Given the description of an element on the screen output the (x, y) to click on. 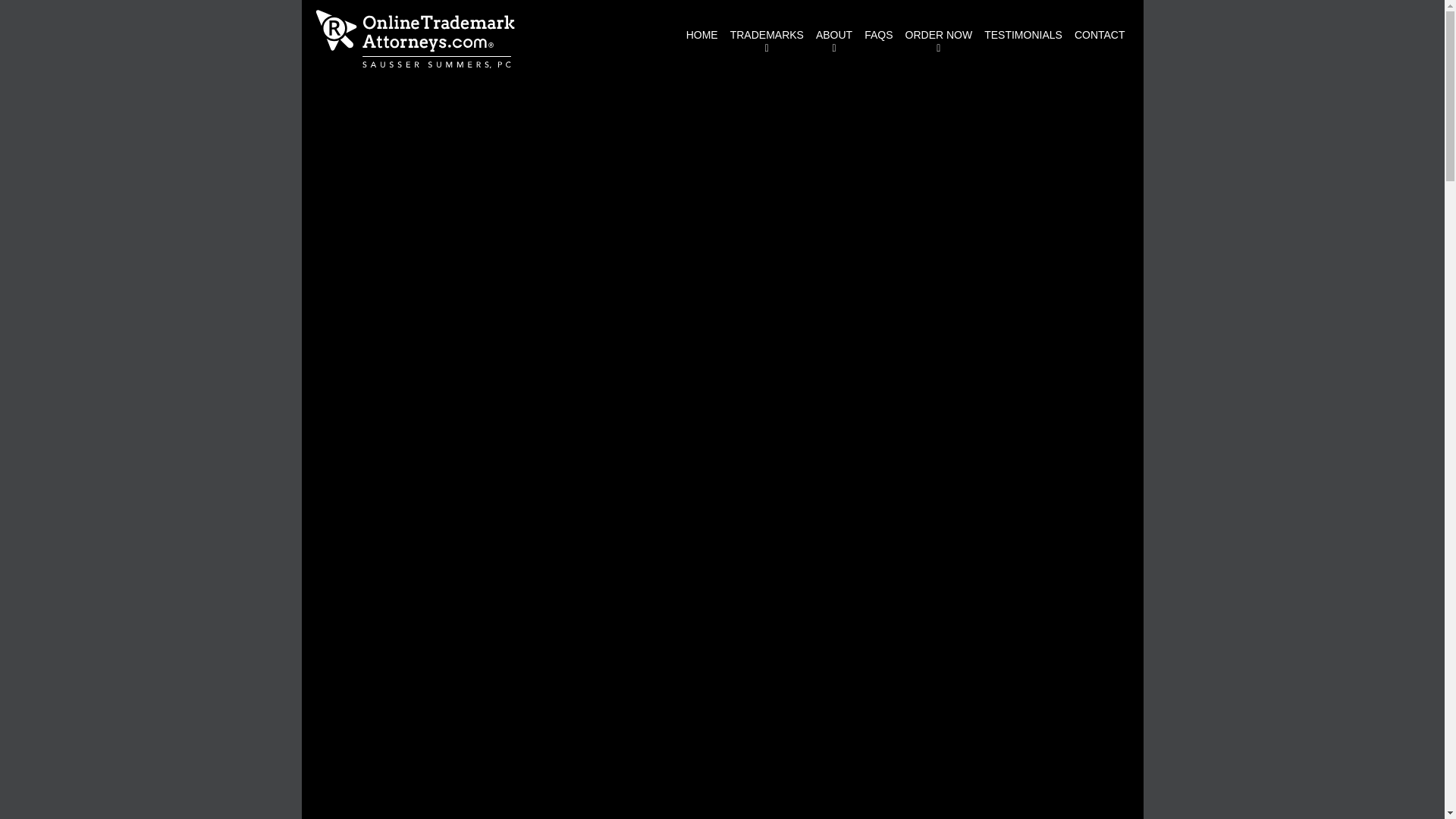
Trademarks (766, 40)
HOME (701, 35)
Testimonials (1023, 35)
FAQs (878, 35)
Contact (1099, 35)
About (834, 40)
TRADEMARKS (766, 40)
Home (701, 35)
Order Now (938, 40)
